Given the description of an element on the screen output the (x, y) to click on. 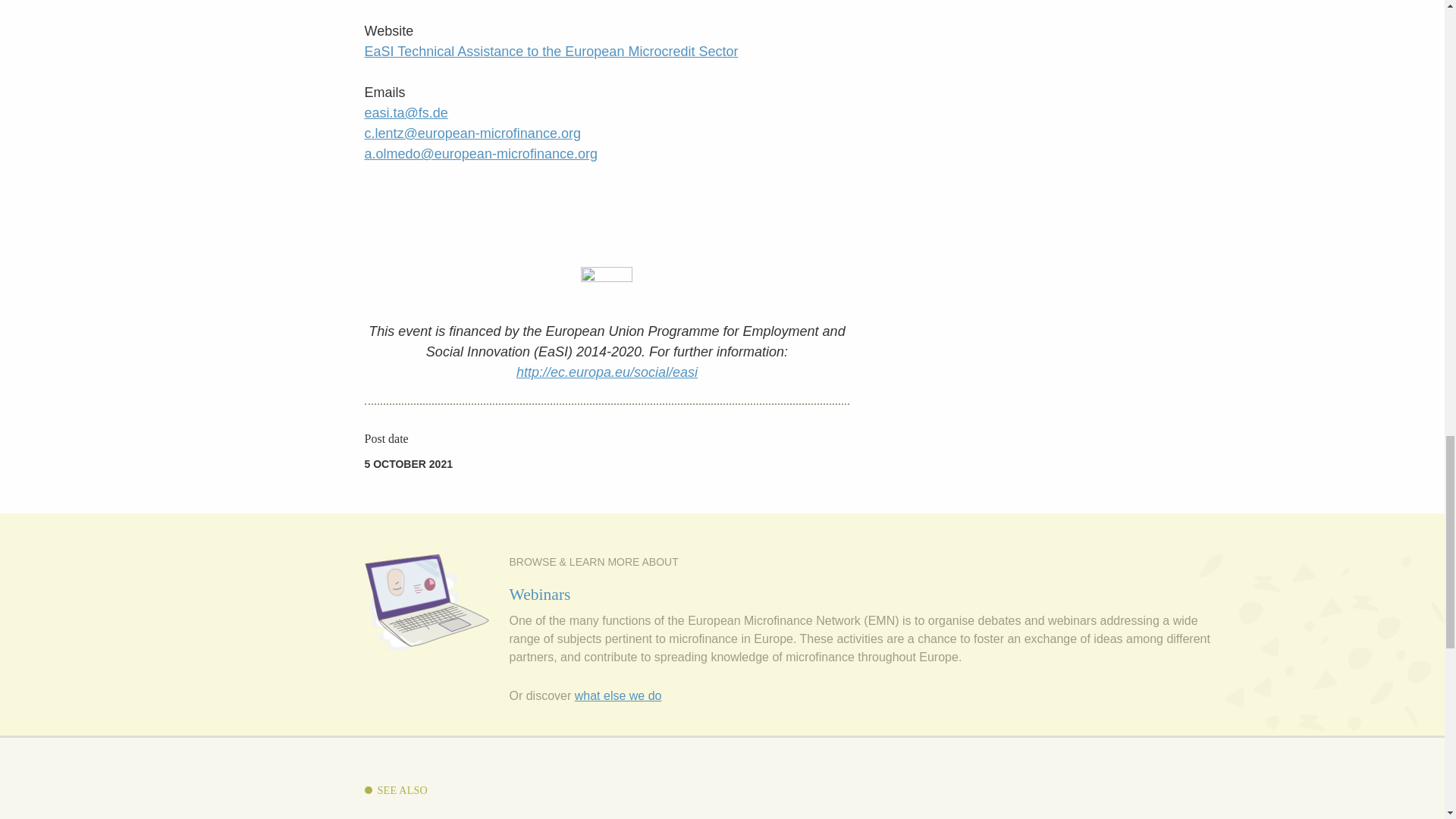
EaSI Technical Assistance to the European Microcredit Sector (551, 51)
